Given the description of an element on the screen output the (x, y) to click on. 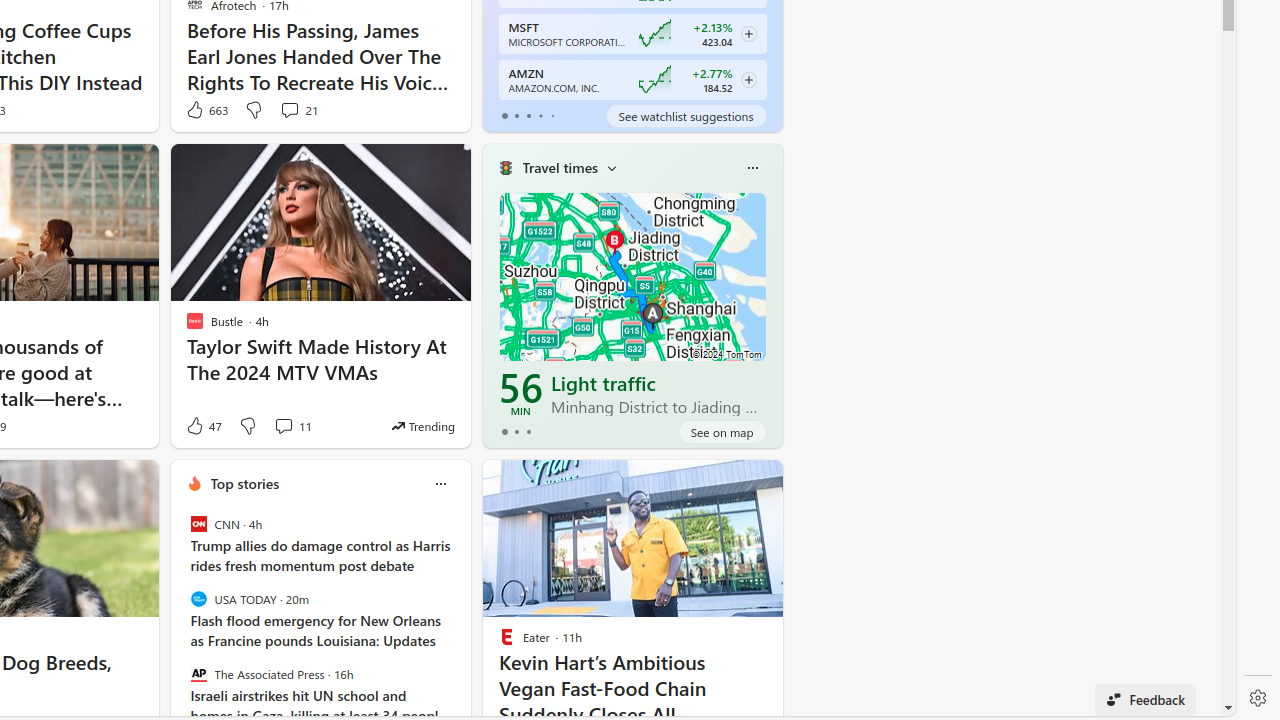
tab-2 Element type: page-tab (528, 432)
See watchlist suggestions Element type: link (686, 115)
previous Element type: push-button (180, 612)
Settings Element type: push-button (1258, 698)
AMZN AMAZON.COM, INC. ‎+2.77%‎ 184.52 Element type: link (632, 80)
